Given the description of an element on the screen output the (x, y) to click on. 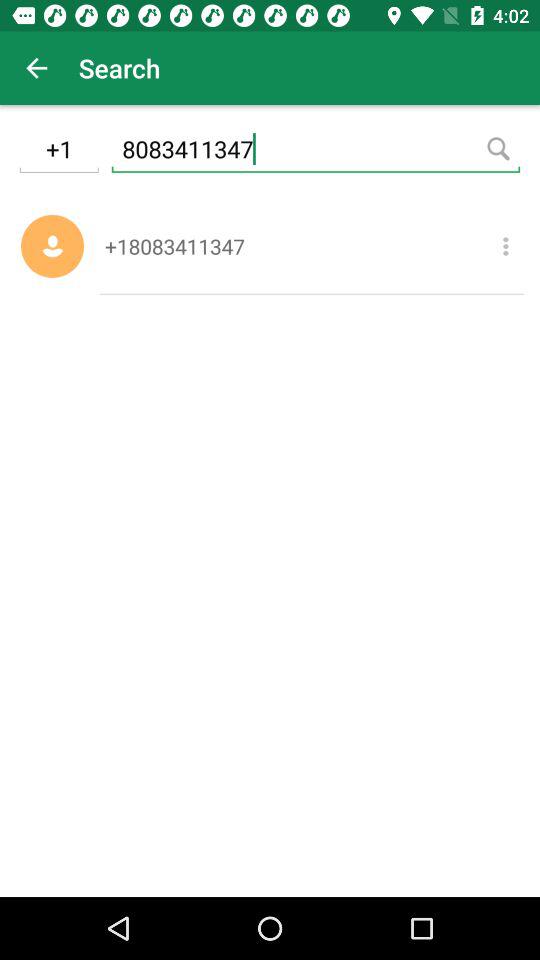
click the app to the left of search (36, 68)
